Given the description of an element on the screen output the (x, y) to click on. 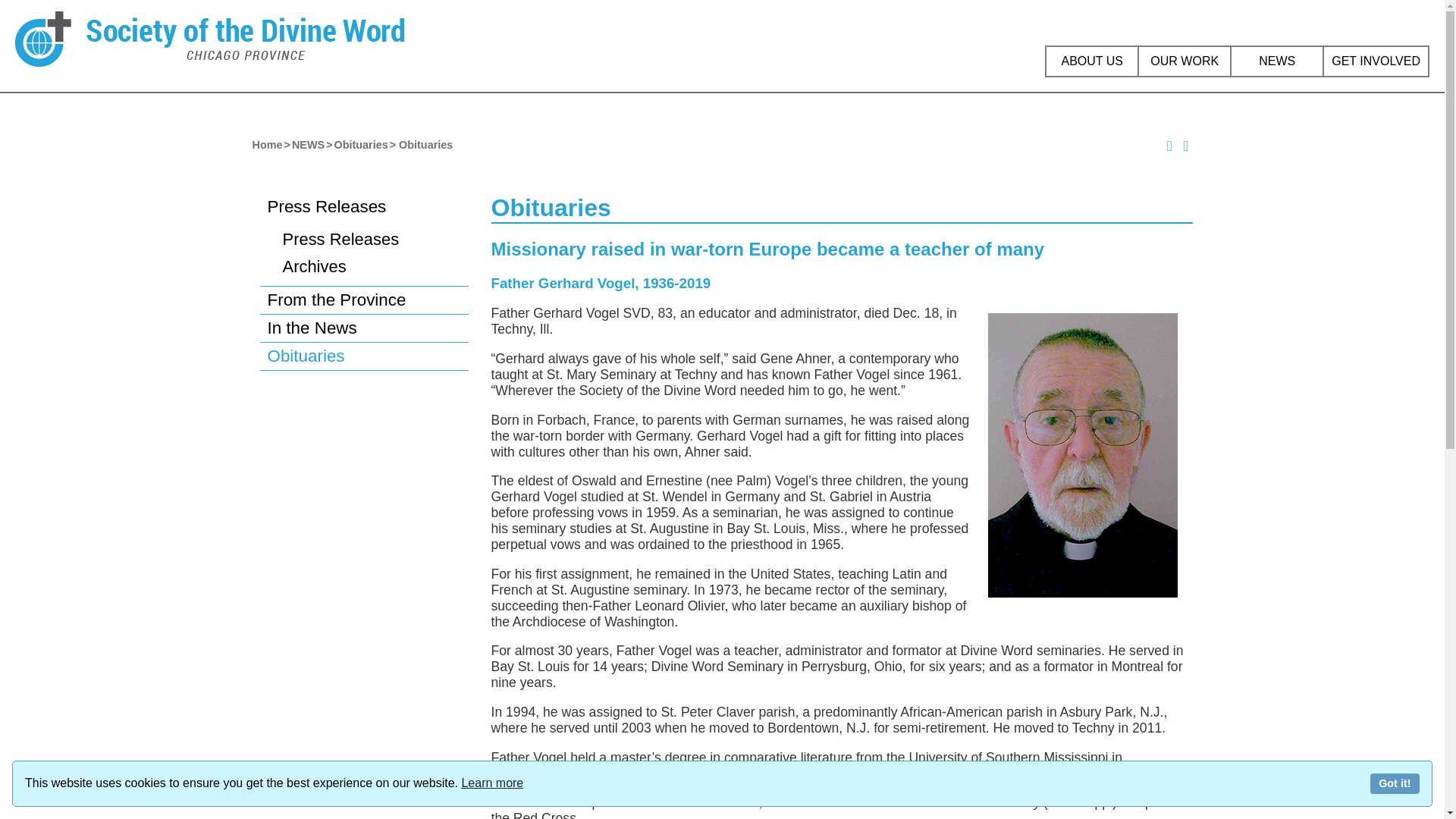
GET INVOLVED (1375, 61)
Learn more (491, 782)
NEWS (1276, 61)
OUR WORK (1184, 61)
ABOUT US (1091, 61)
Got it! (1394, 783)
